Given the description of an element on the screen output the (x, y) to click on. 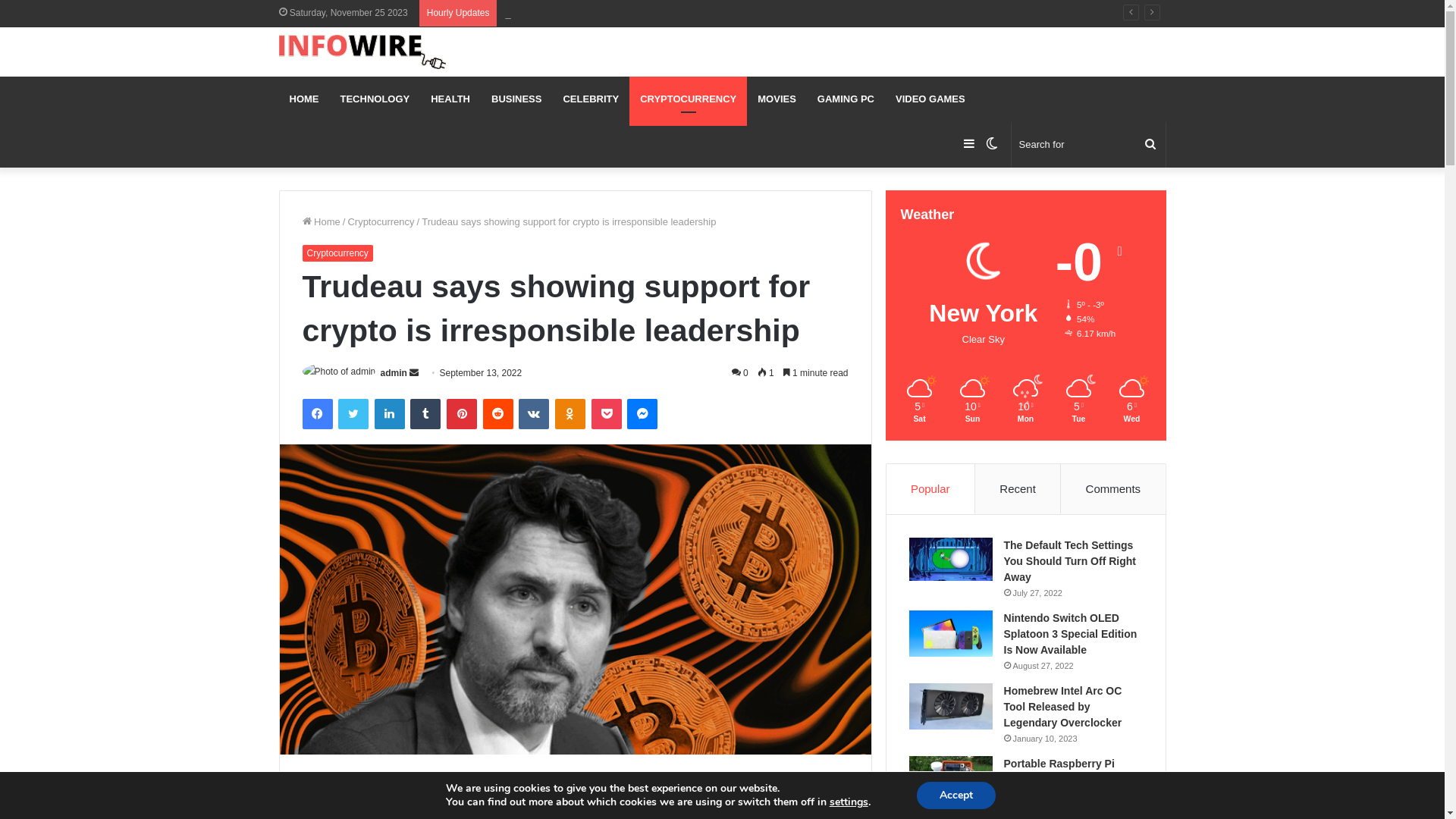
VKontakte Element type: text (533, 413)
Search for Element type: hover (1088, 144)
GAMING PC Element type: text (845, 99)
Send an email Element type: text (413, 372)
Pinterest Element type: text (461, 413)
admin Element type: text (393, 372)
TECHNOLOGY Element type: text (374, 99)
VIDEO GAMES Element type: text (929, 99)
Cryptocurrency Element type: text (380, 221)
CELEBRITY Element type: text (590, 99)
HEALTH Element type: text (450, 99)
LinkedIn Element type: text (389, 413)
Recent Element type: text (1017, 489)
Messenger Element type: text (642, 413)
The Default Tech Settings You Should Turn Off Right Away Element type: text (1069, 561)
Comments Element type: text (1112, 489)
Cryptocurrency Element type: text (336, 252)
Pocket Element type: text (606, 413)
Tumblr Element type: text (425, 413)
BUSINESS Element type: text (516, 99)
Portable Raspberry Pi Tricorder Detects Starlink Satellites Element type: text (1068, 779)
Sidebar Element type: text (968, 144)
Twitter Element type: text (353, 413)
Popular Element type: text (930, 489)
Reddit Element type: text (498, 413)
Facebook Element type: text (316, 413)
Switch skin Element type: text (990, 144)
Odnoklassniki Element type: text (570, 413)
Search for Element type: text (1149, 144)
HOME Element type: text (304, 99)
Home Element type: text (320, 221)
Accept Element type: text (955, 795)
InfoWire Element type: hover (362, 51)
Venom blockchain hits 1M testnet wallets in two months Element type: text (625, 12)
MOVIES Element type: text (776, 99)
Homebrew Intel Arc OC Tool Released by Legendary Overclocker Element type: text (1063, 706)
CRYPTOCURRENCY Element type: text (687, 99)
